Given the description of an element on the screen output the (x, y) to click on. 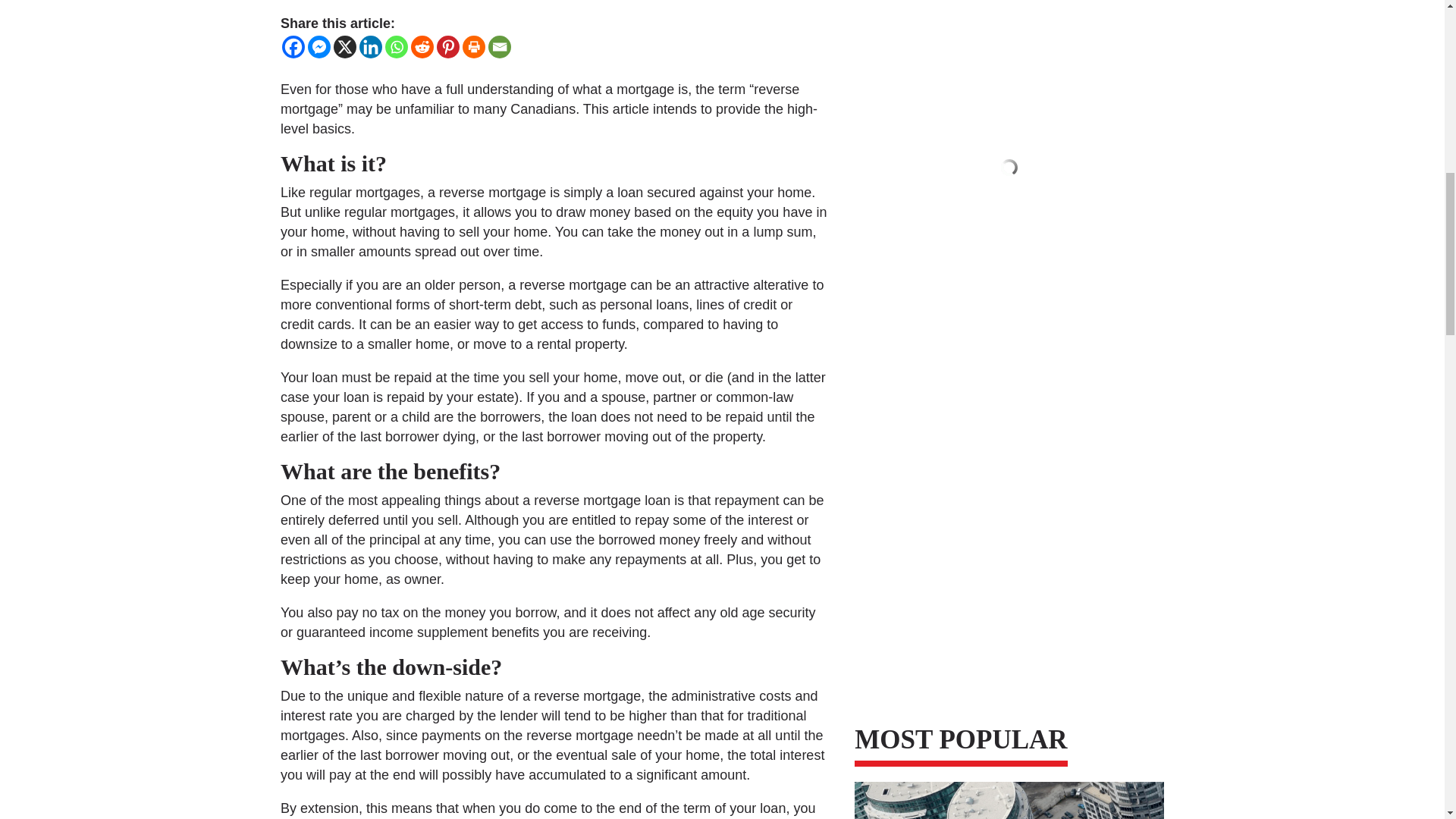
Linkedin (370, 47)
Print (473, 47)
Whatsapp (396, 47)
Reddit (421, 47)
Pinterest (448, 47)
Facebook (293, 47)
X (344, 47)
